Given the description of an element on the screen output the (x, y) to click on. 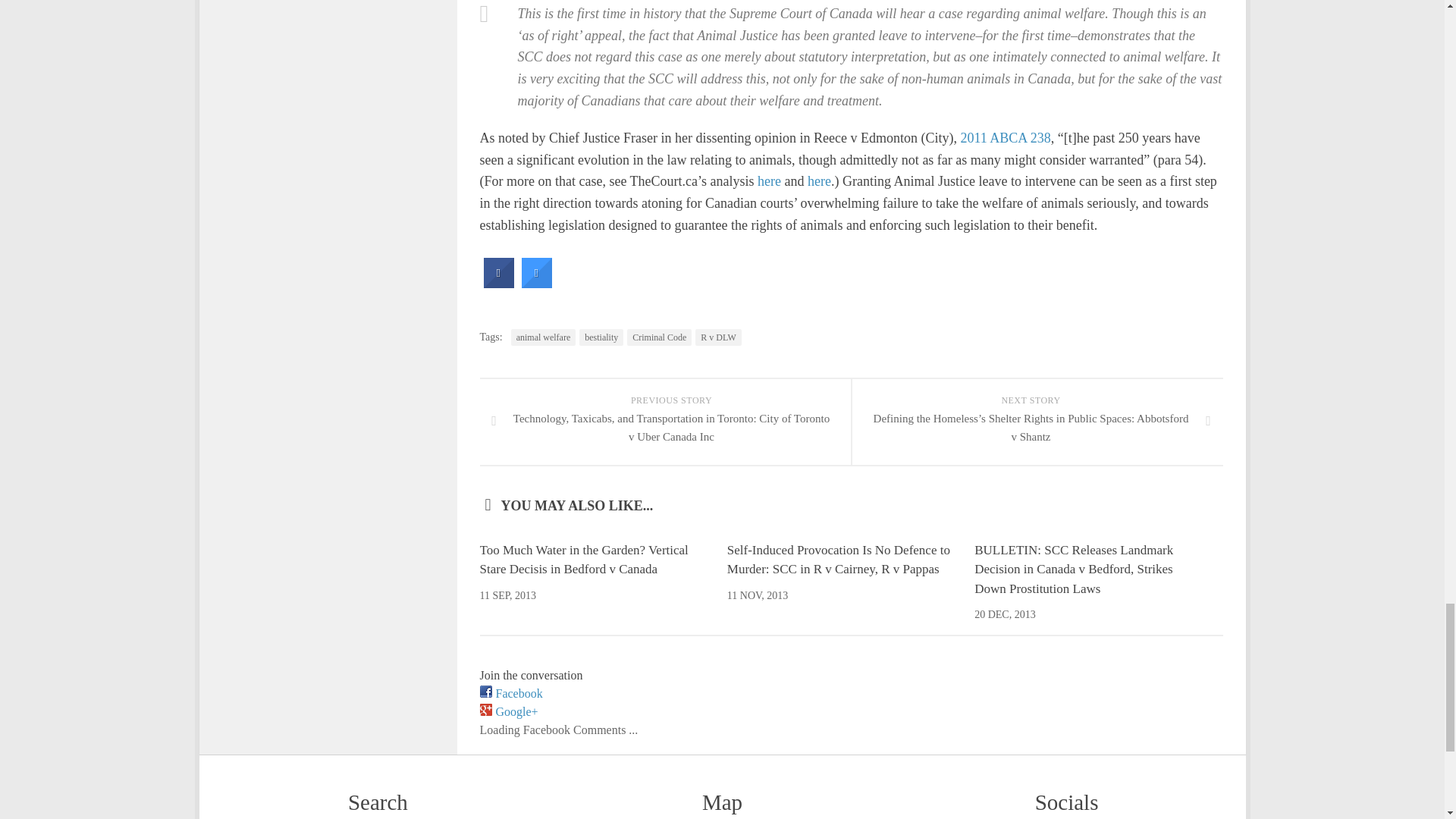
bestiality (601, 337)
2011 ABCA 238 (1004, 137)
animal welfare (543, 337)
Share on Facebook (498, 283)
R v DLW (718, 337)
here (819, 181)
here (768, 181)
